Given the description of an element on the screen output the (x, y) to click on. 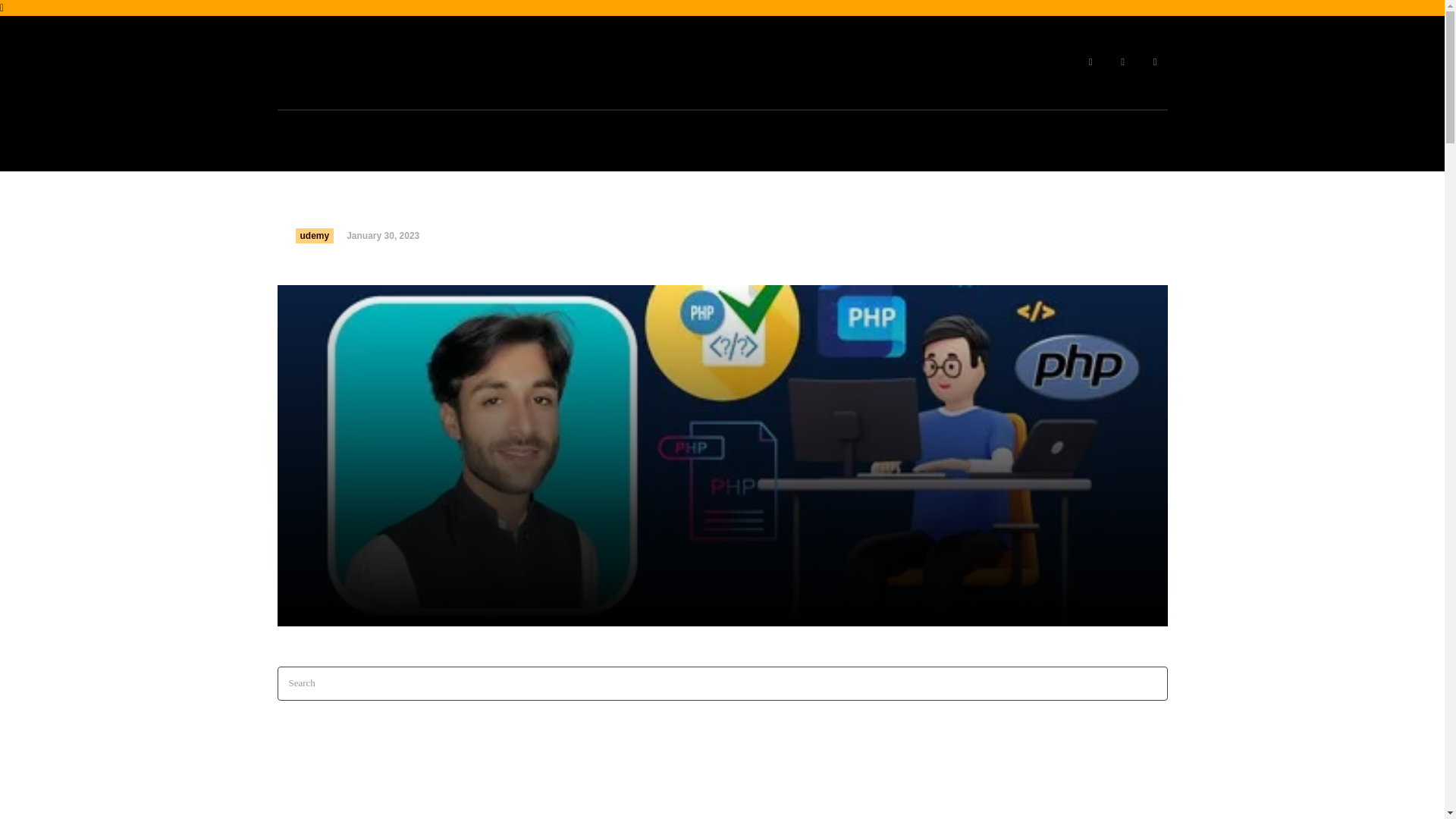
Facebook (1090, 62)
Twitter (1154, 62)
udemy (314, 235)
Instagram (1122, 62)
